Given the description of an element on the screen output the (x, y) to click on. 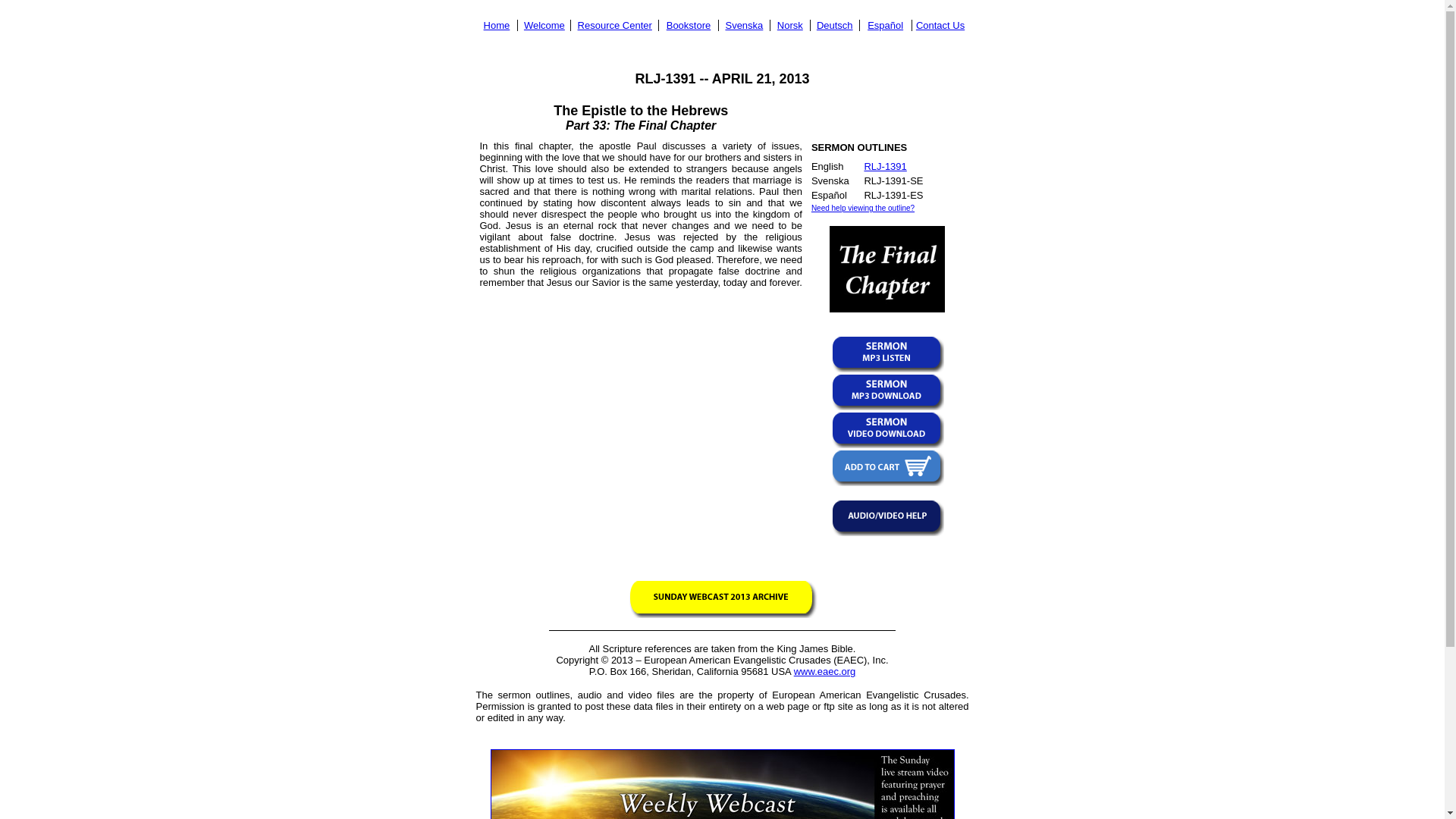
Norsk (790, 25)
www.eaec.org (824, 671)
RLJ-1391 (884, 165)
Welcome (544, 25)
Svenska (743, 25)
Home (497, 25)
Deutsch (834, 25)
Need help viewing the outline? (862, 207)
Resource Center (615, 25)
Contact Us (939, 25)
Bookstore (688, 25)
